Given the description of an element on the screen output the (x, y) to click on. 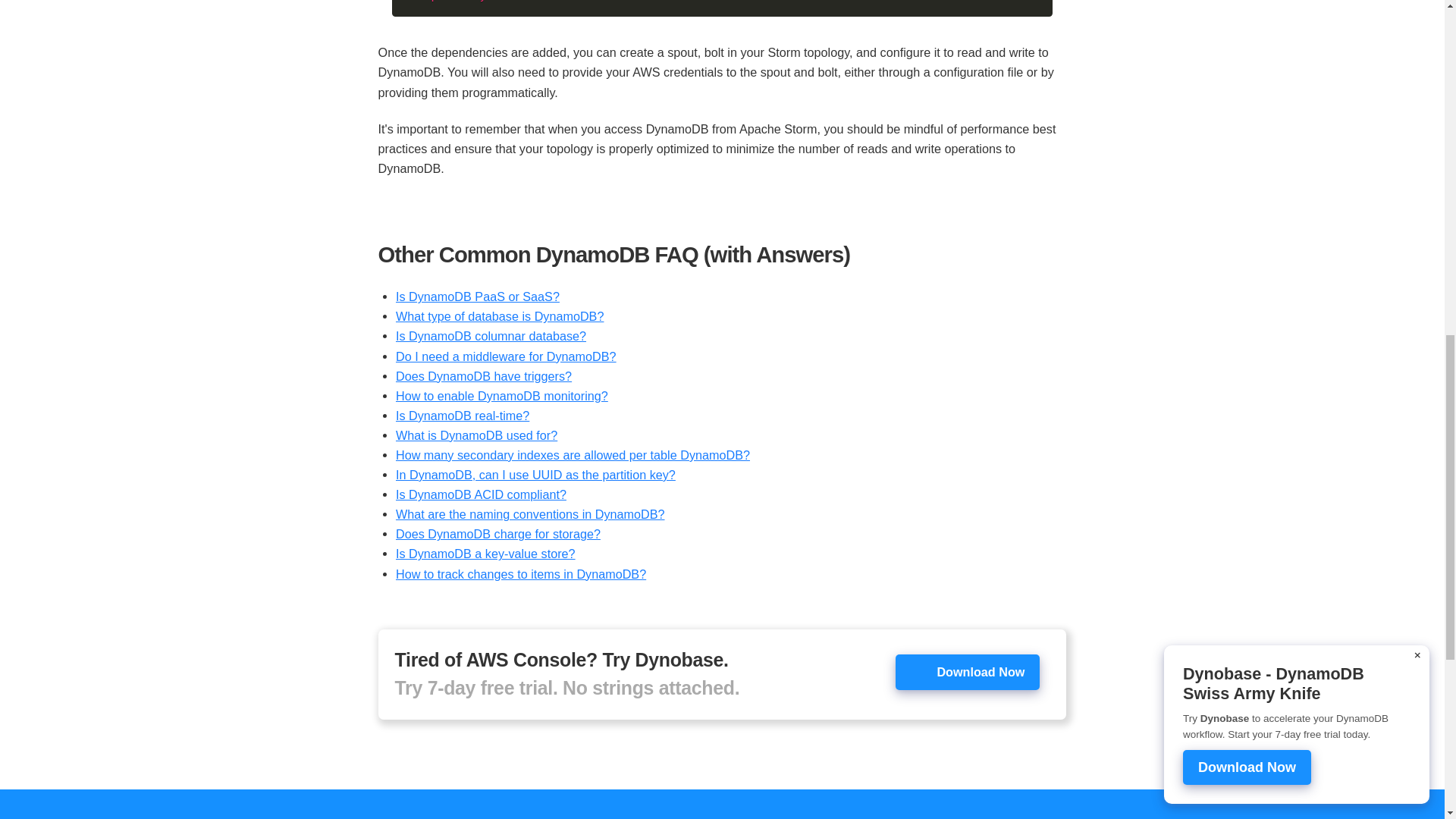
How to track changes to items in DynamoDB? (521, 573)
Is DynamoDB ACID compliant? (481, 494)
What are the naming conventions in DynamoDB? (530, 513)
Does DynamoDB have triggers? (484, 376)
Is DynamoDB PaaS or SaaS? (477, 296)
How many secondary indexes are allowed per table DynamoDB? (572, 454)
Is DynamoDB columnar database? (491, 336)
Download Now (968, 671)
Do I need a middleware for DynamoDB? (505, 355)
What is DynamoDB used for? (476, 435)
How to enable DynamoDB monitoring? (502, 395)
In DynamoDB, can I use UUID as the partition key? (535, 474)
Download Now (967, 671)
What type of database is DynamoDB? (500, 315)
Is DynamoDB real-time? (462, 415)
